Given the description of an element on the screen output the (x, y) to click on. 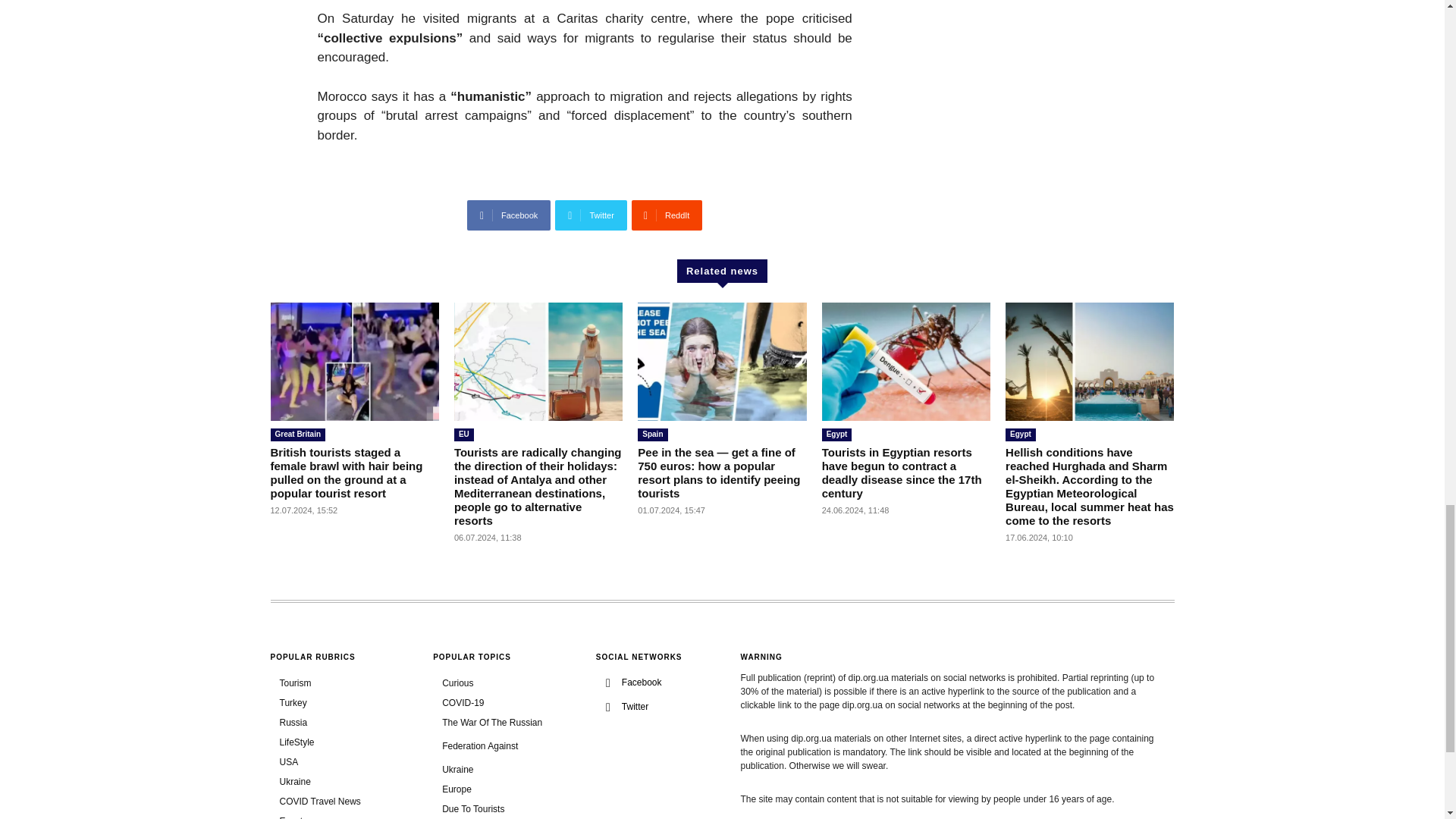
Twitter (590, 214)
Facebook (508, 214)
